Given the description of an element on the screen output the (x, y) to click on. 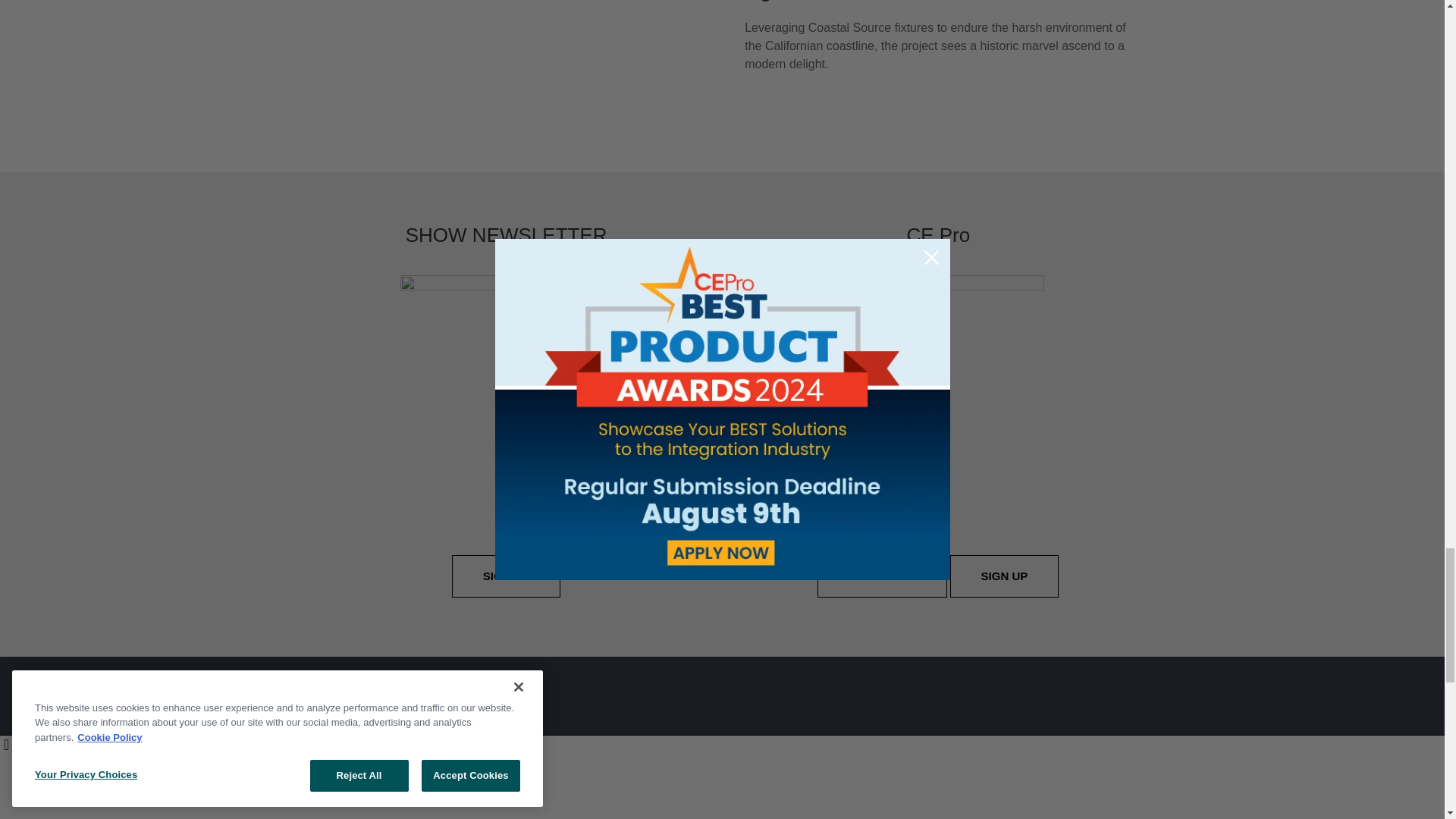
3rd party ad content (721, 130)
